Given the description of an element on the screen output the (x, y) to click on. 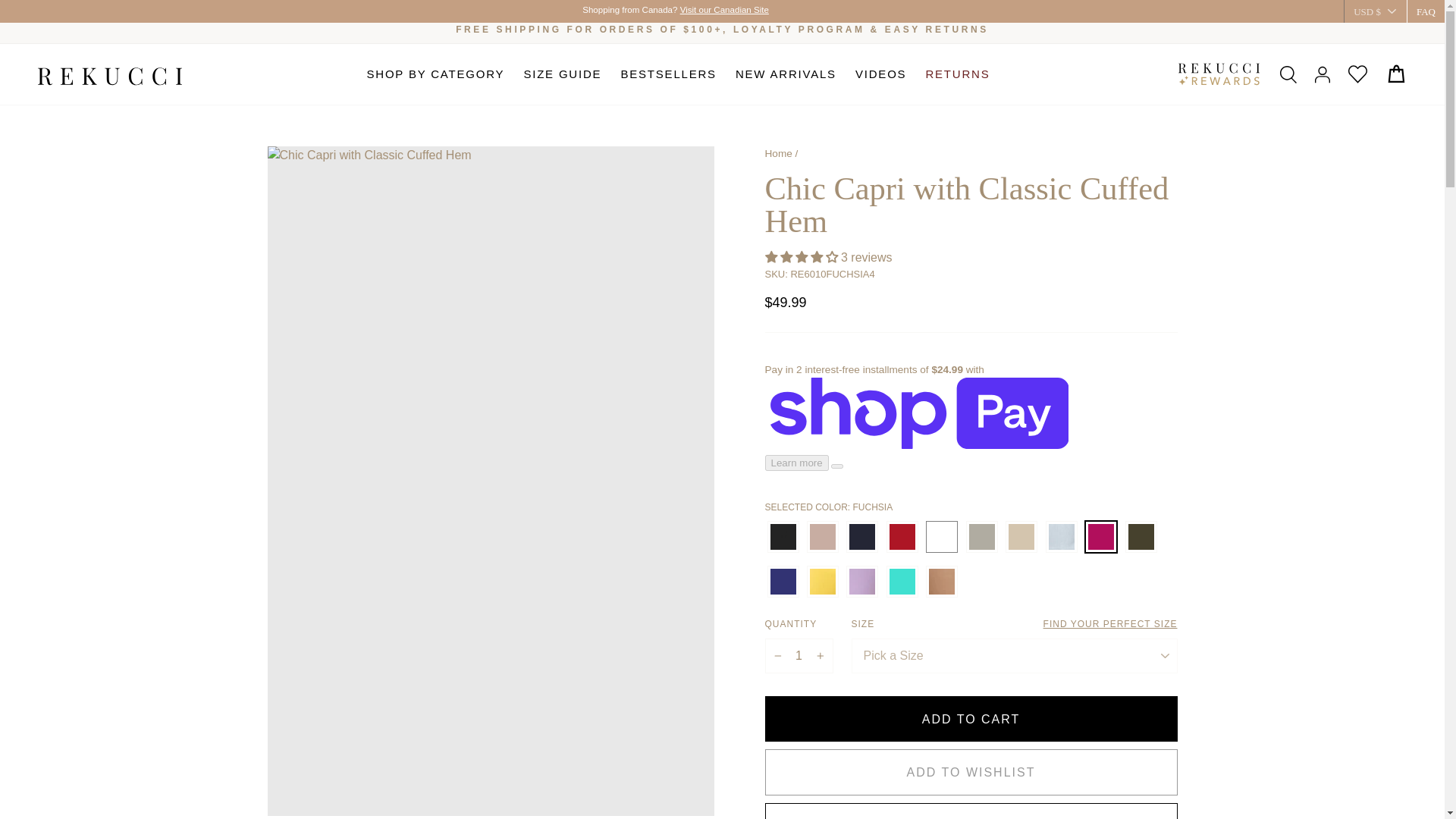
EASY RETURNS (936, 29)
Return An Order (936, 29)
Smile.io Rewards Program Launcher (37, 780)
Back to the frontpage (778, 153)
LOGO-REKUCCI-REWARDS-MENU (1218, 74)
Shopping from Canada? Visit our Canadian Site (671, 10)
1 (798, 655)
SHOP BY CATEGORY (434, 73)
